Given the description of an element on the screen output the (x, y) to click on. 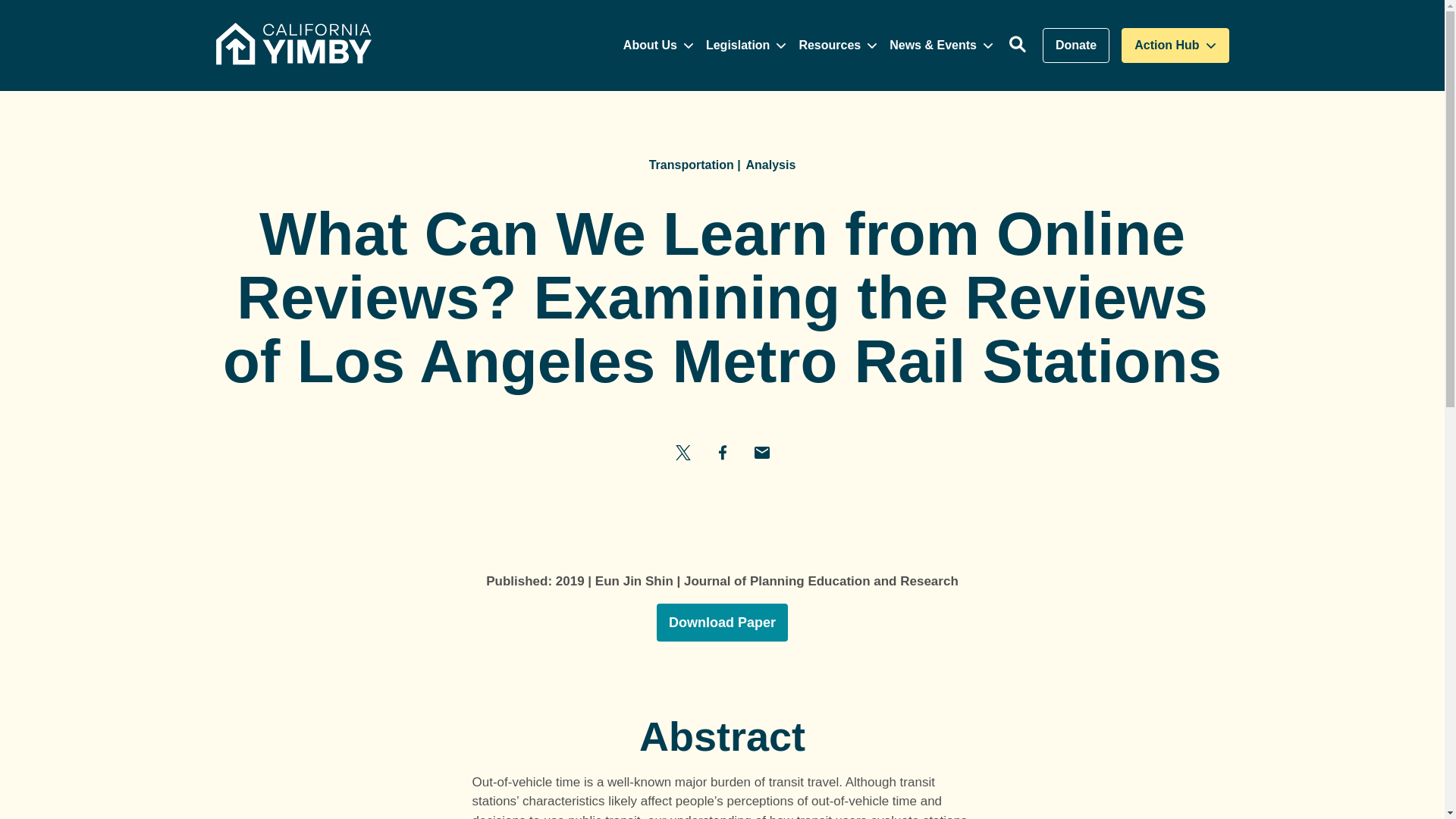
Share this page on Twitter (1075, 45)
Action Hub (682, 451)
Resources (1174, 45)
Share this page via Email (828, 45)
Share this page on Facebook (761, 451)
Open search (721, 451)
About Us (1018, 45)
Legislation (650, 45)
Share this page via Email (738, 45)
